Given the description of an element on the screen output the (x, y) to click on. 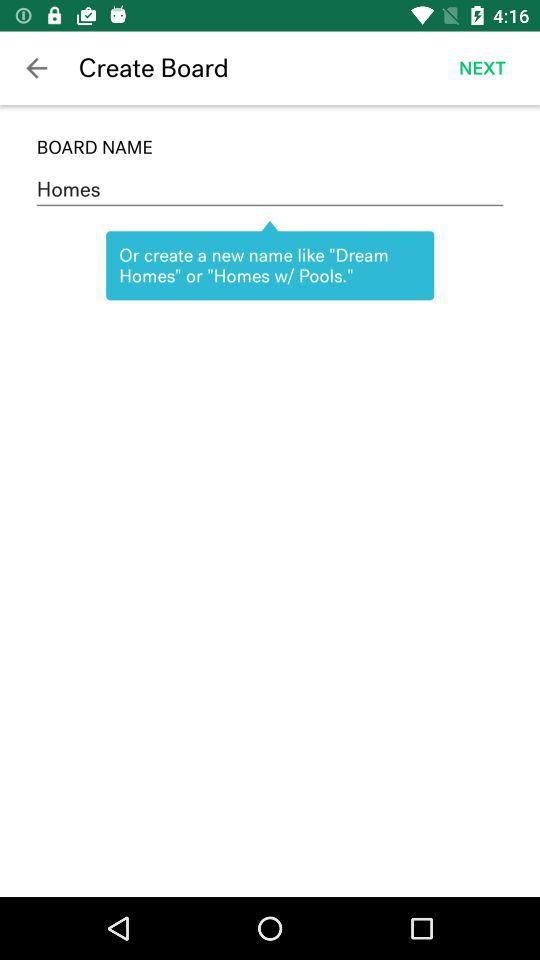
choose item above the board name item (482, 68)
